Given the description of an element on the screen output the (x, y) to click on. 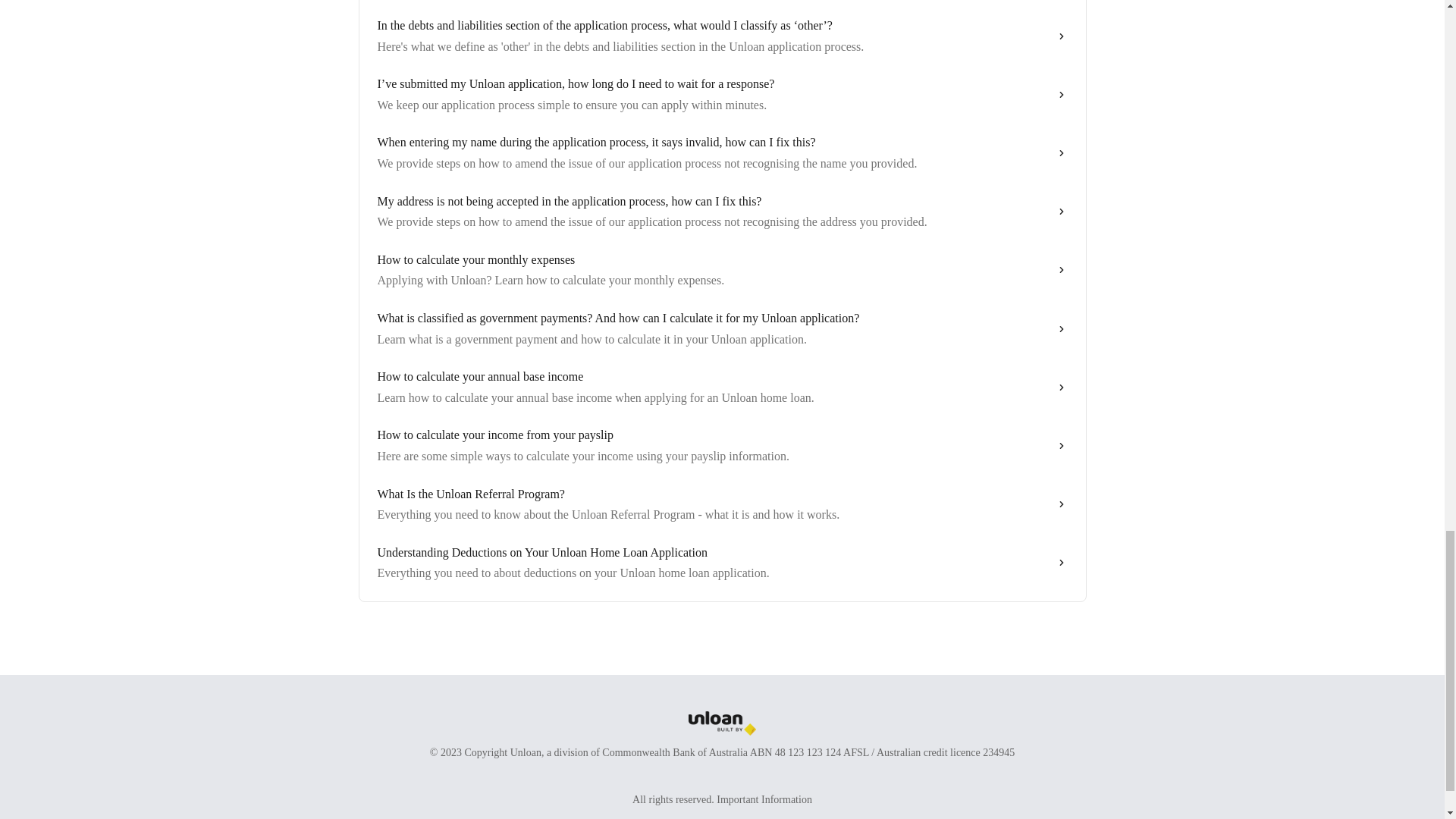
All rights reserved. Important Information (721, 799)
